Given the description of an element on the screen output the (x, y) to click on. 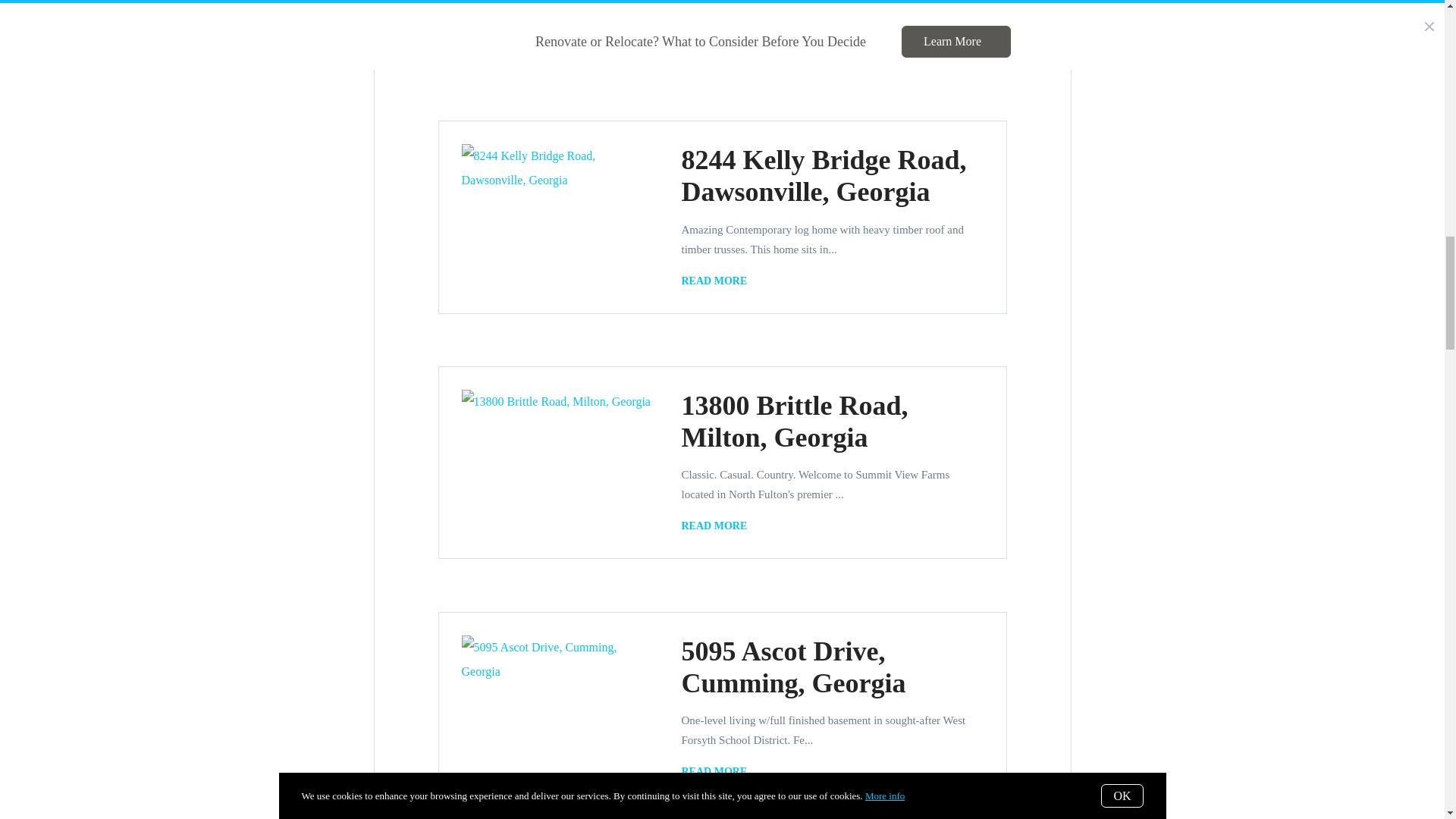
8244 Kelly Bridge Road, Dawsonville, Georgia (823, 175)
8244 Kelly Bridge Road, Dawsonville, Georgia (717, 280)
1321 Fate Conn Road, Canton, Georgia (717, 35)
5095 Ascot Drive, Cumming, Georgia (793, 667)
5095 Ascot Drive, Cumming, Georgia (717, 771)
13800 Brittle Road, Milton, Georgia (794, 421)
13800 Brittle Road, Milton, Georgia (717, 525)
